Given the description of an element on the screen output the (x, y) to click on. 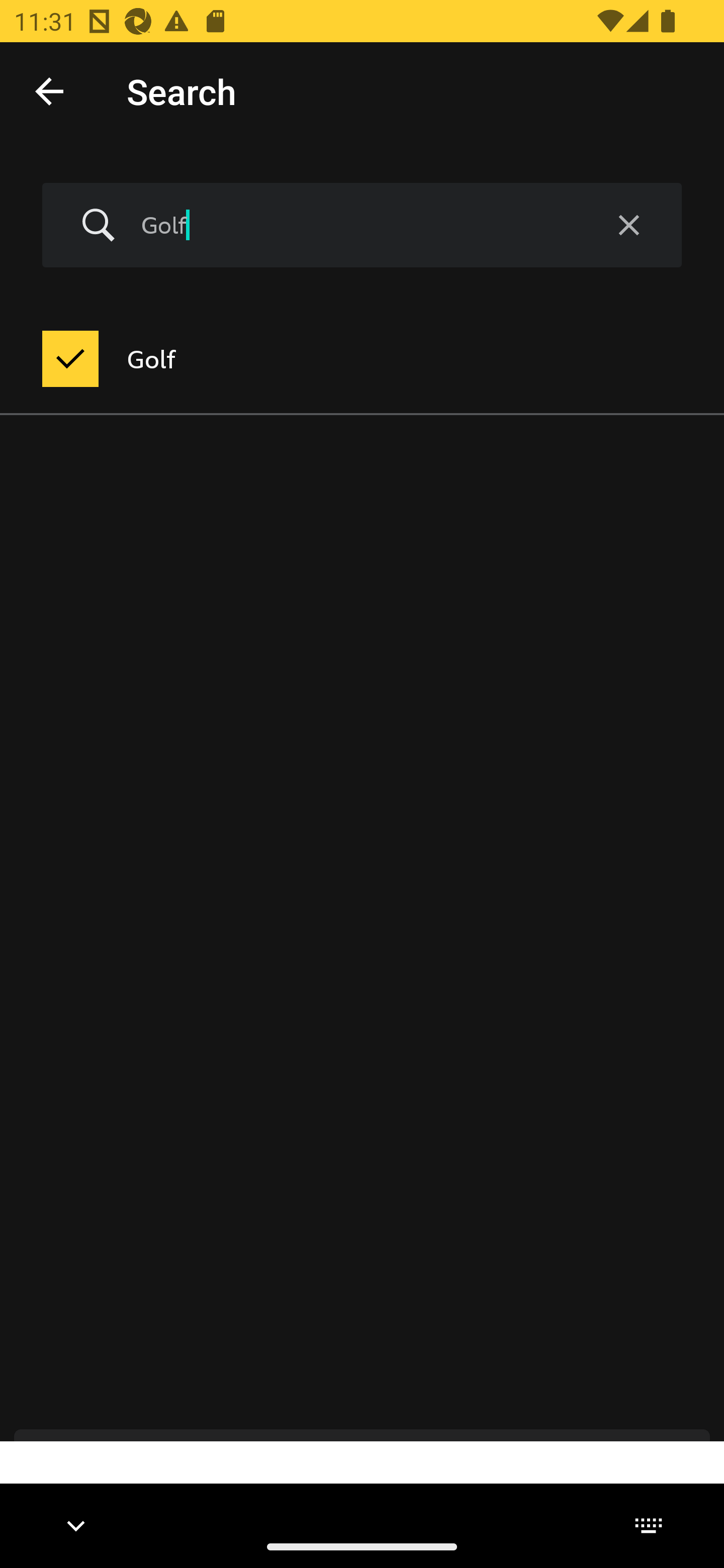
Done (49, 90)
Golf Clear query (361, 225)
Clear query (628, 225)
Golf (358, 224)
Golf (362, 358)
